Given the description of an element on the screen output the (x, y) to click on. 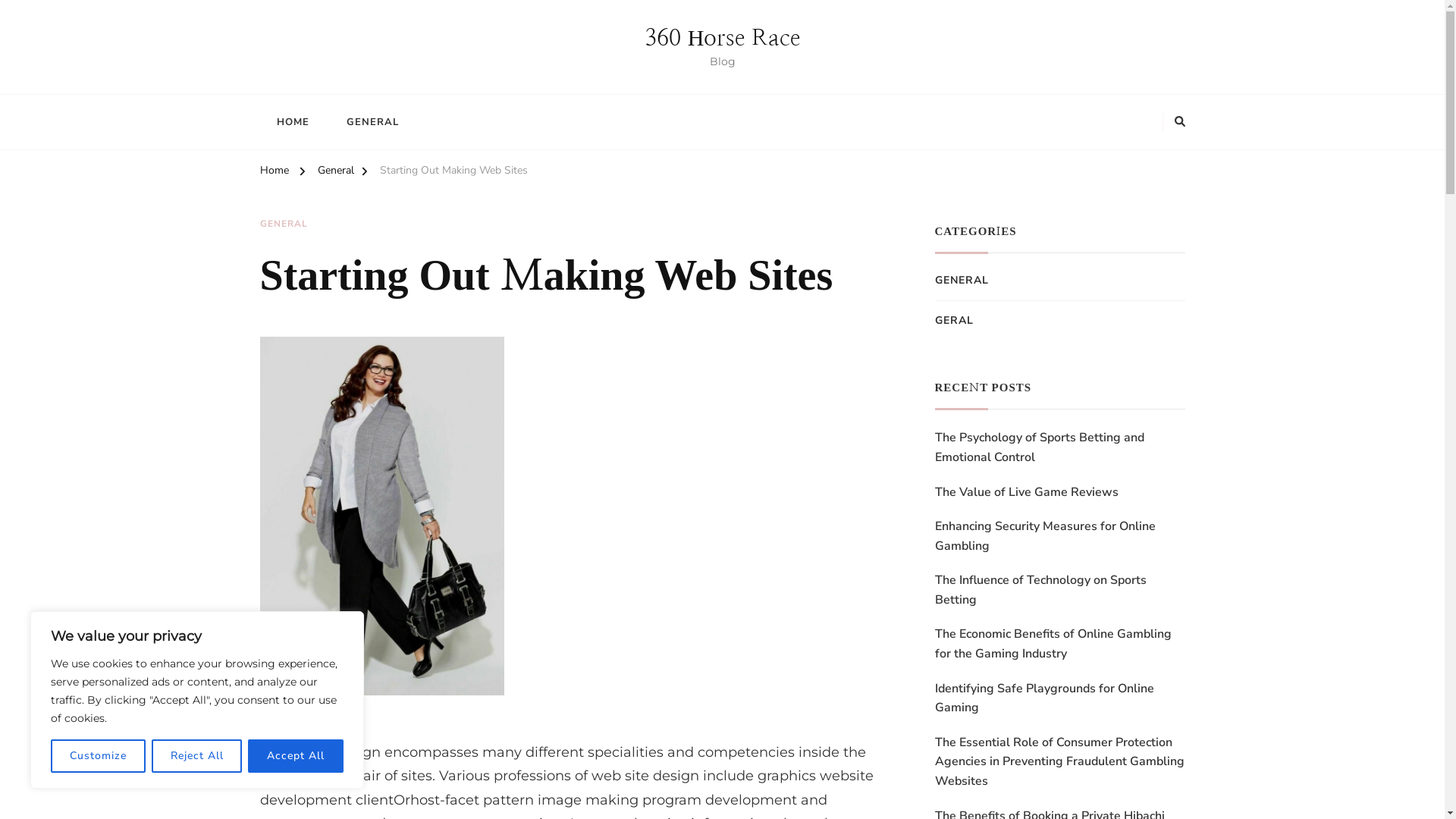
Customize Element type: text (97, 755)
Enhancing Security Measures for Online Gambling Element type: text (1059, 536)
HOME Element type: text (292, 121)
Starting Out Making Web Sites Element type: text (453, 172)
GERAL Element type: text (953, 320)
Home Element type: text (273, 172)
The Influence of Technology on Sports Betting Element type: text (1059, 590)
Accept All Element type: text (295, 755)
General Element type: text (334, 172)
GENERAL Element type: text (961, 280)
Reject All Element type: text (196, 755)
Identifying Safe Playgrounds for Online Gaming Element type: text (1059, 698)
GENERAL Element type: text (283, 224)
GENERAL Element type: text (371, 121)
The Value of Live Game Reviews Element type: text (1025, 492)
The Psychology of Sports Betting and Emotional Control Element type: text (1059, 447)
360 Horse Race Element type: text (722, 37)
